Given the description of an element on the screen output the (x, y) to click on. 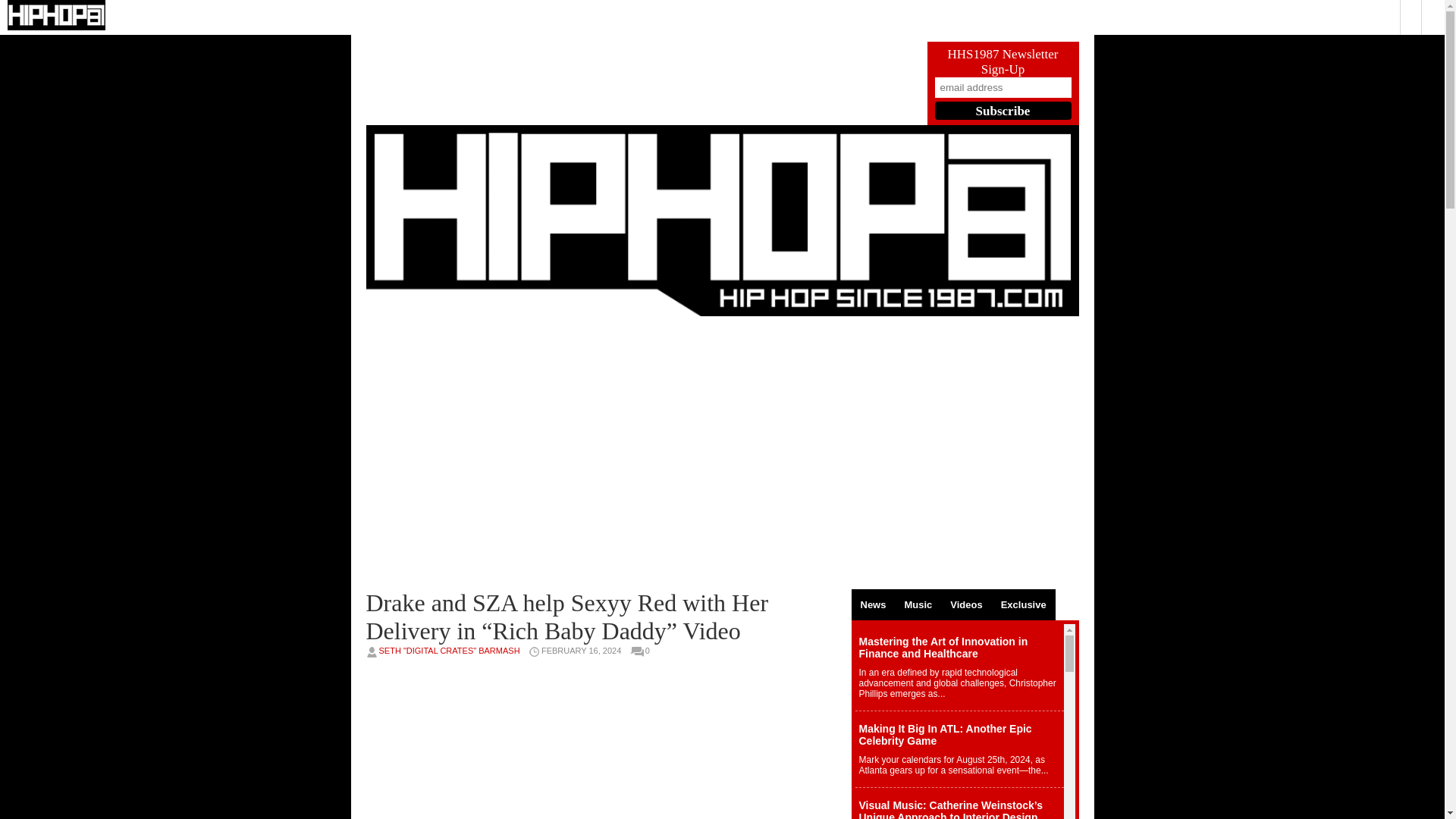
Subscribe (1002, 110)
0 (650, 650)
Mastering the Art of Innovation in Finance and Healthcare (960, 667)
Posts by Seth "Digital Crates" Barmash (448, 650)
YouTube video player (600, 451)
SETH "DIGITAL CRATES" BARMASH (448, 650)
Making It Big In ATL: Another Epic Celebrity Game (960, 749)
Subscribe (1002, 110)
